Given the description of an element on the screen output the (x, y) to click on. 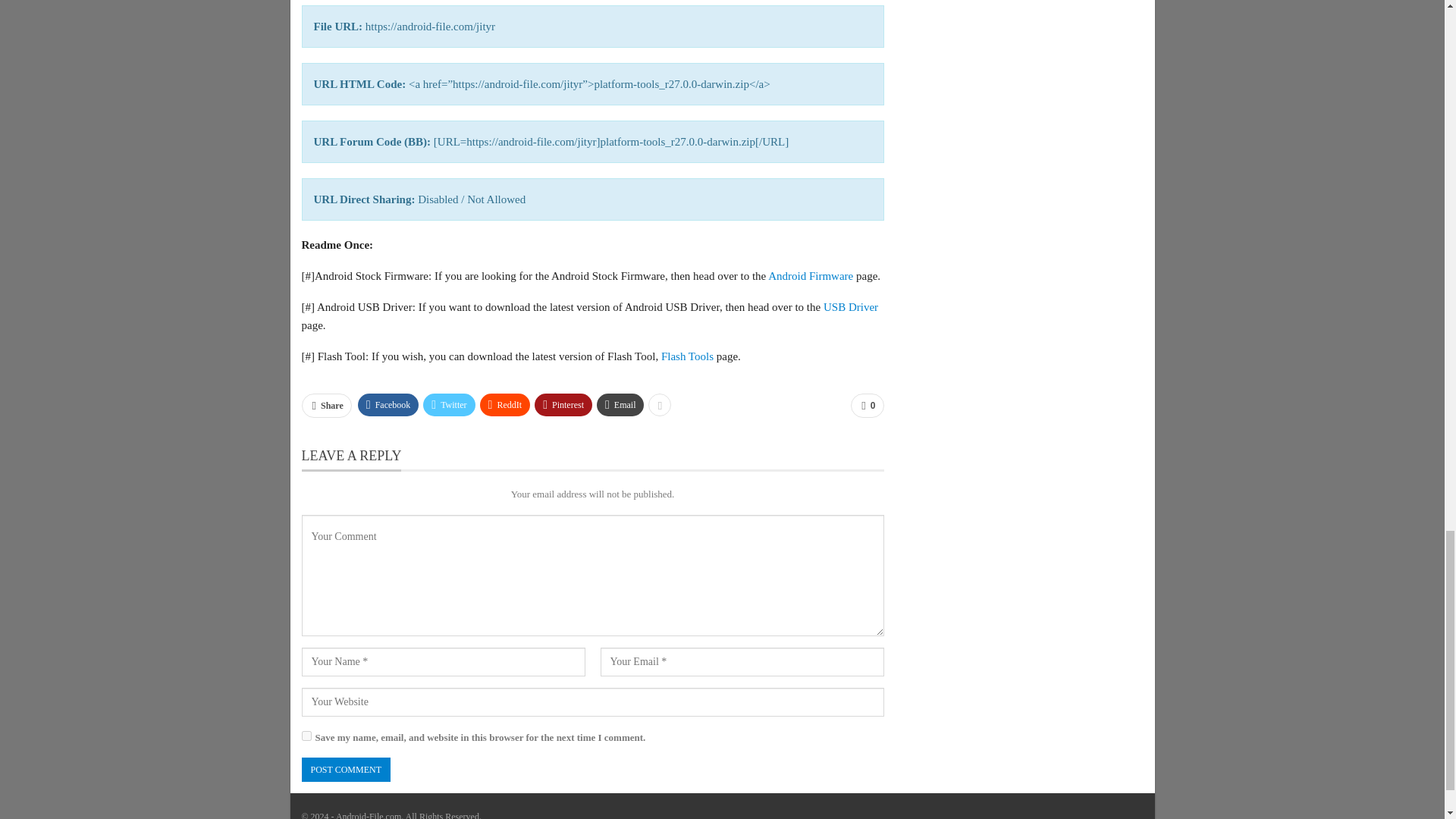
Facebook (388, 404)
Post Comment (345, 769)
USB Driver (850, 306)
Email (620, 404)
Twitter (448, 404)
Pinterest (563, 404)
Flash Tools (687, 356)
Android Firmware (810, 275)
0 (866, 405)
Post Comment (345, 769)
yes (306, 736)
ReddIt (505, 404)
